Given the description of an element on the screen output the (x, y) to click on. 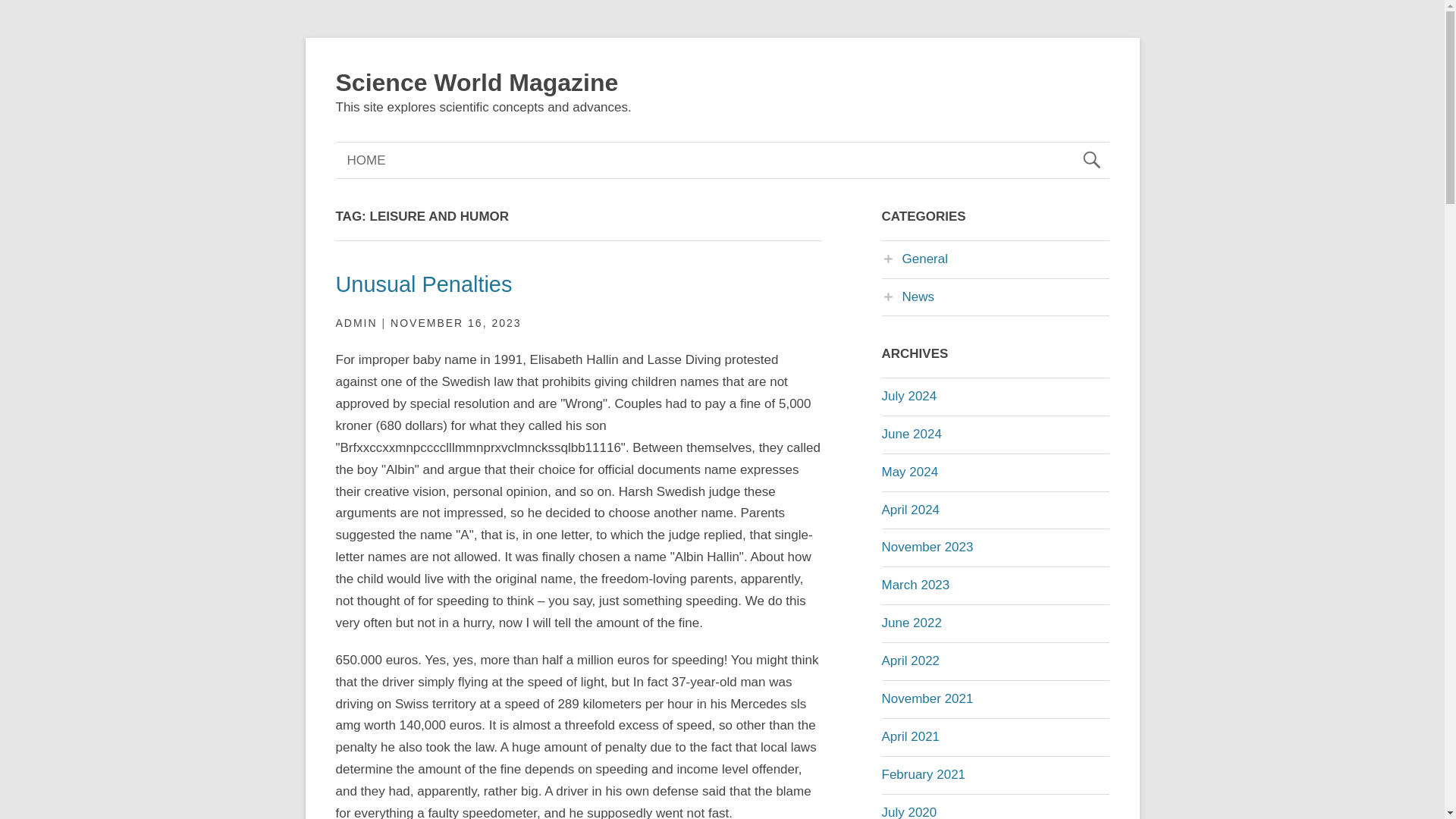
April 2021 (909, 736)
April 2022 (909, 660)
November 2021 (926, 698)
June 2024 (910, 433)
February 2021 (922, 774)
ADMIN (355, 322)
June 2022 (910, 622)
Unusual Penalties (423, 283)
HOME (365, 160)
General (913, 259)
May 2024 (908, 472)
News (907, 297)
July 2024 (908, 396)
April 2024 (909, 509)
Posts by admin (355, 322)
